Given the description of an element on the screen output the (x, y) to click on. 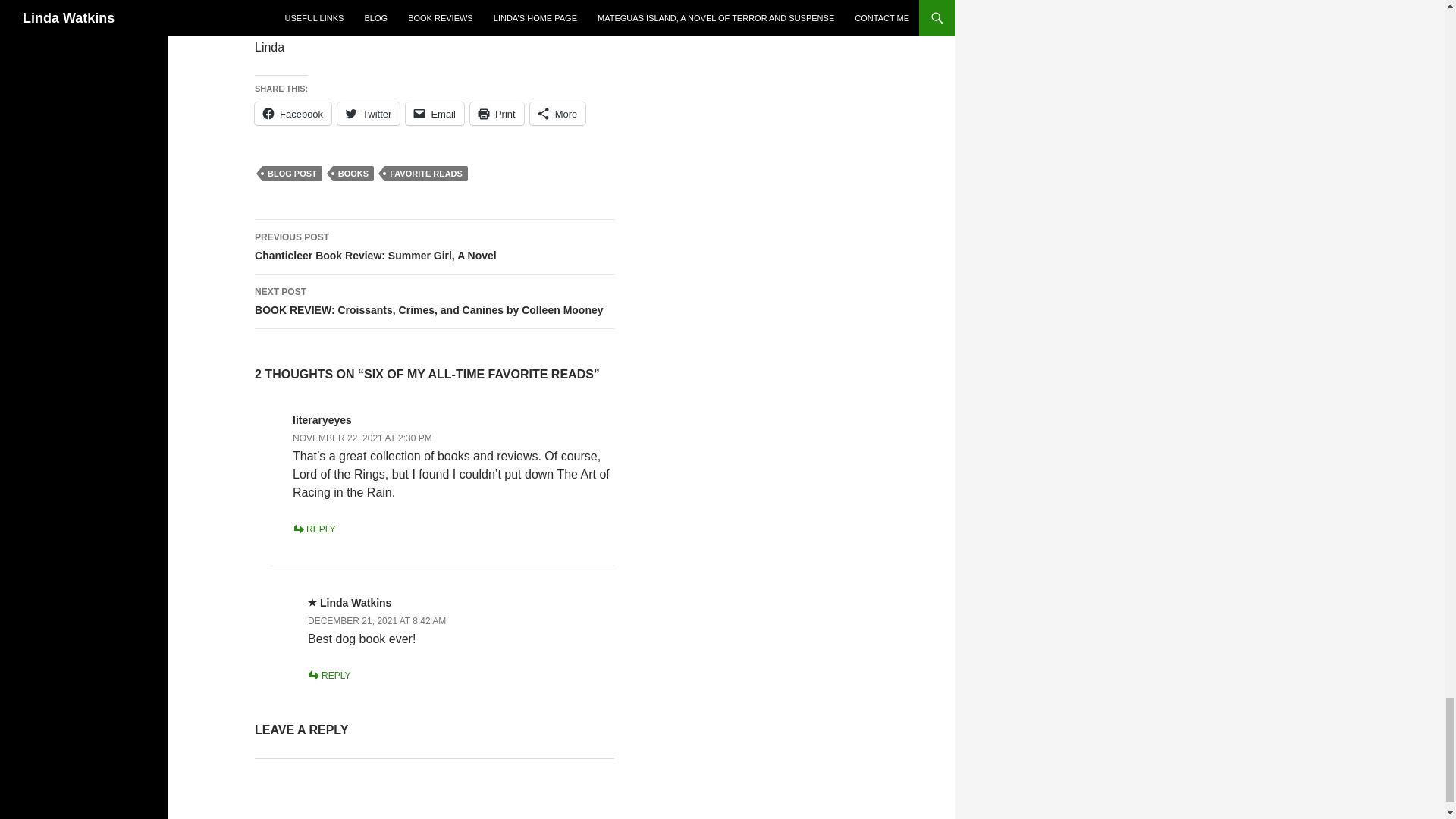
Click to share on Twitter (367, 113)
Email (435, 113)
REPLY (313, 529)
Click to email a link to a friend (435, 113)
DECEMBER 21, 2021 AT 8:42 AM (376, 620)
FAVORITE READS (425, 173)
Click to share on Facebook (292, 113)
Print (497, 113)
